Given the description of an element on the screen output the (x, y) to click on. 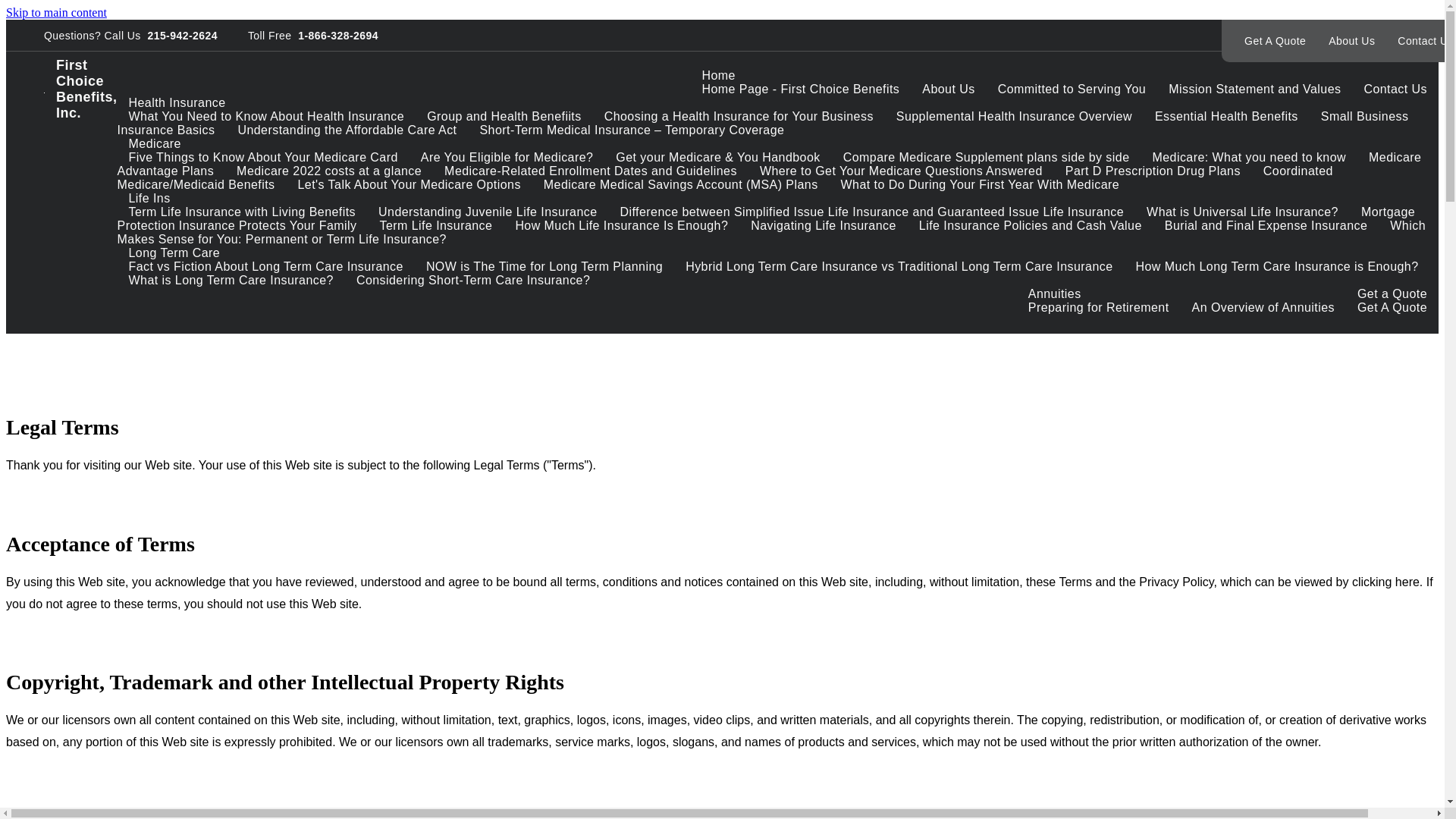
About Us Element type: text (947, 89)
Which Makes Sense for You: Permanent or Term Life Insurance? Element type: text (771, 232)
Understanding the Affordable Care Act Element type: text (346, 130)
Burial and Final Expense Insurance Element type: text (1266, 225)
Choosing a Health Insurance for Your Business Element type: text (738, 116)
Compare Medicare Supplement plans side by side Element type: text (986, 157)
Get a Quote Element type: text (1392, 293)
How Much Life Insurance Is Enough? Element type: text (621, 225)
Supplemental Health Insurance Overview Element type: text (1013, 116)
Long Term Care Element type: text (174, 252)
1-866-328-2694 Element type: text (334, 34)
Small Business Insurance Basics Element type: text (762, 123)
What You Need to Know About Health Insurance Element type: text (266, 116)
Medicare: What you need to know Element type: text (1248, 157)
Health Insurance Element type: text (177, 102)
215-942-2624 Element type: text (179, 34)
Mortgage Protection Insurance Protects Your Family Element type: text (766, 218)
What to Do During Your First Year With Medicare Element type: text (980, 184)
Five Things to Know About Your Medicare Card Element type: text (263, 157)
Get your Medicare & You Handbook Element type: text (717, 157)
Are You Eligible for Medicare? Element type: text (507, 157)
Life Insurance Policies and Cash Value Element type: text (1030, 225)
How Much Long Term Care Insurance is Enough? Element type: text (1276, 266)
Medicare Element type: text (154, 143)
Get A Quote Element type: text (1275, 40)
What is Universal Life Insurance? Element type: text (1242, 211)
Coordinated Medicare/Medicaid Benefits Element type: text (725, 177)
Contact Us Element type: text (1395, 89)
Committed to Serving You Element type: text (1071, 89)
Get A Quote Element type: text (1392, 307)
Part D Prescription Drug Plans Element type: text (1153, 170)
Group and Health Benefiits Element type: text (504, 116)
Preparing for Retirement Element type: text (1098, 307)
About Us Element type: text (1351, 40)
Skip to main content Element type: text (56, 12)
Term Life Insurance Element type: text (436, 225)
Medicare-Related Enrollment Dates and Guidelines Element type: text (590, 170)
Home Page - First Choice Benefits Element type: text (800, 89)
Medicare 2022 costs at a glance Element type: text (329, 170)
Let's Talk About Your Medicare Options Element type: text (409, 184)
Where to Get Your Medicare Questions Answered Element type: text (901, 170)
Essential Health Benefits Element type: text (1226, 116)
NOW is The Time for Long Term Planning Element type: text (544, 266)
Home Element type: text (718, 75)
Term Life Insurance with Living Benefits Element type: text (242, 211)
First Choice Benefits, Inc. Element type: text (80, 89)
Considering Short-Term Care Insurance? Element type: text (473, 280)
An Overview of Annuities Element type: text (1263, 307)
Medicare Medical Savings Account (MSA) Plans Element type: text (680, 184)
What is Long Term Care Insurance? Element type: text (231, 280)
Navigating Life Insurance Element type: text (823, 225)
Fact vs Fiction About Long Term Care Insurance Element type: text (265, 266)
Understanding Juvenile Life Insurance Element type: text (487, 211)
Medicare Advantage Plans Element type: text (769, 164)
Mission Statement and Values Element type: text (1254, 89)
Annuities Element type: text (1054, 293)
Life Ins Element type: text (149, 198)
